Given the description of an element on the screen output the (x, y) to click on. 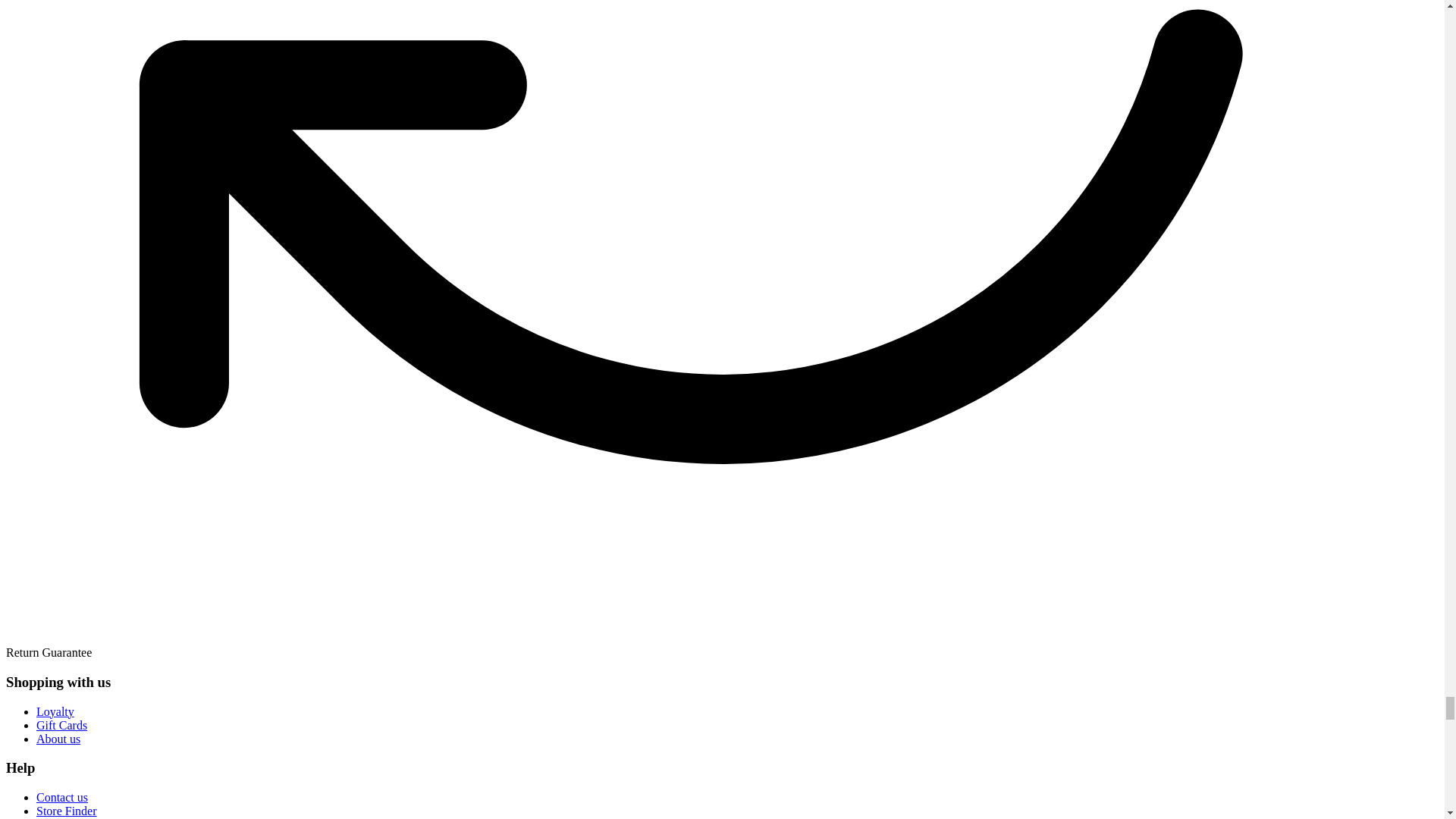
Store Finder (66, 810)
Contact us (61, 797)
Loyalty (55, 711)
Gift Cards (61, 725)
About us (58, 738)
